Given the description of an element on the screen output the (x, y) to click on. 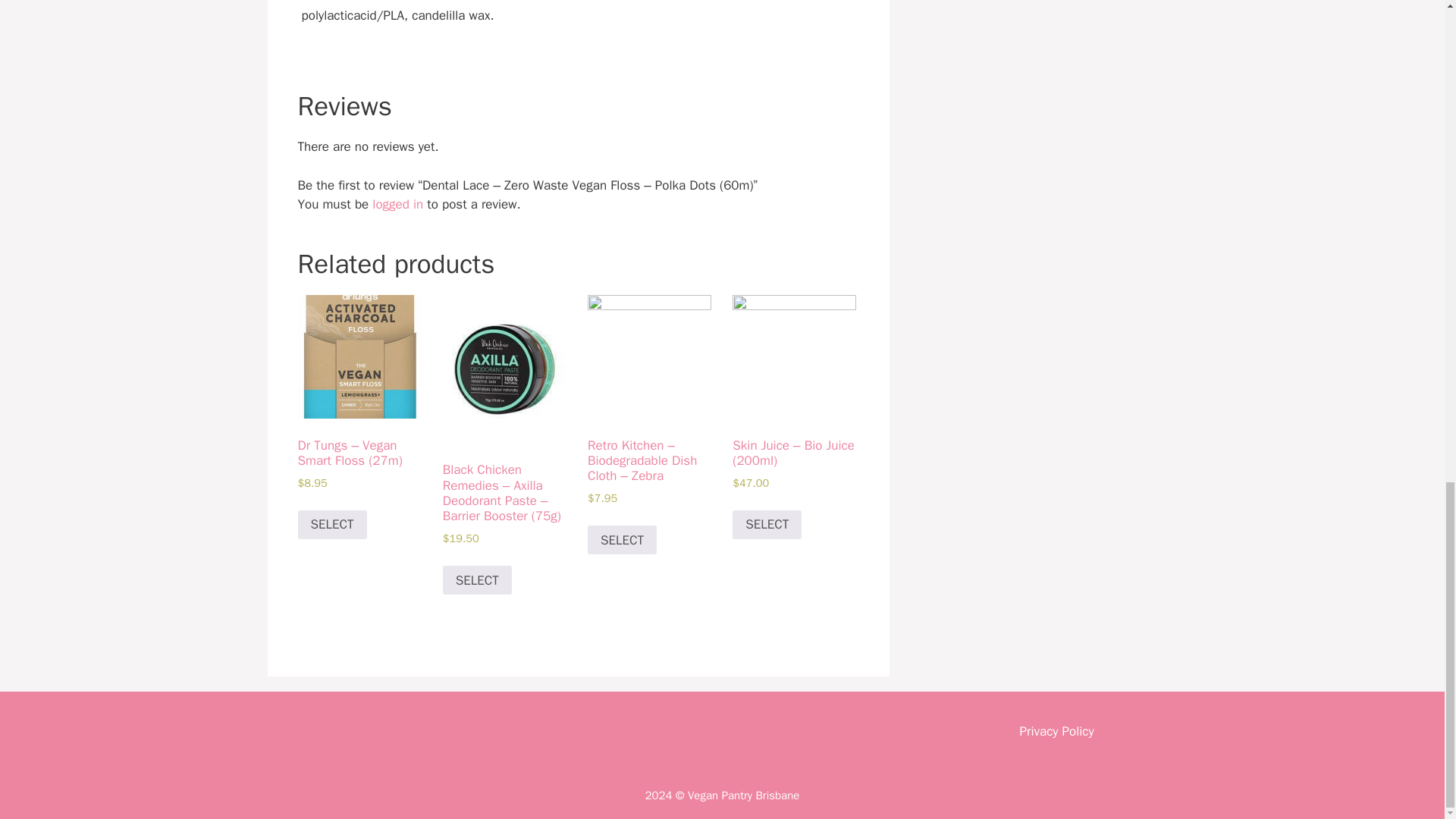
Privacy Policy (1056, 731)
logged in (397, 204)
SELECT (622, 539)
SELECT (331, 524)
SELECT (767, 524)
SELECT (477, 579)
